Given the description of an element on the screen output the (x, y) to click on. 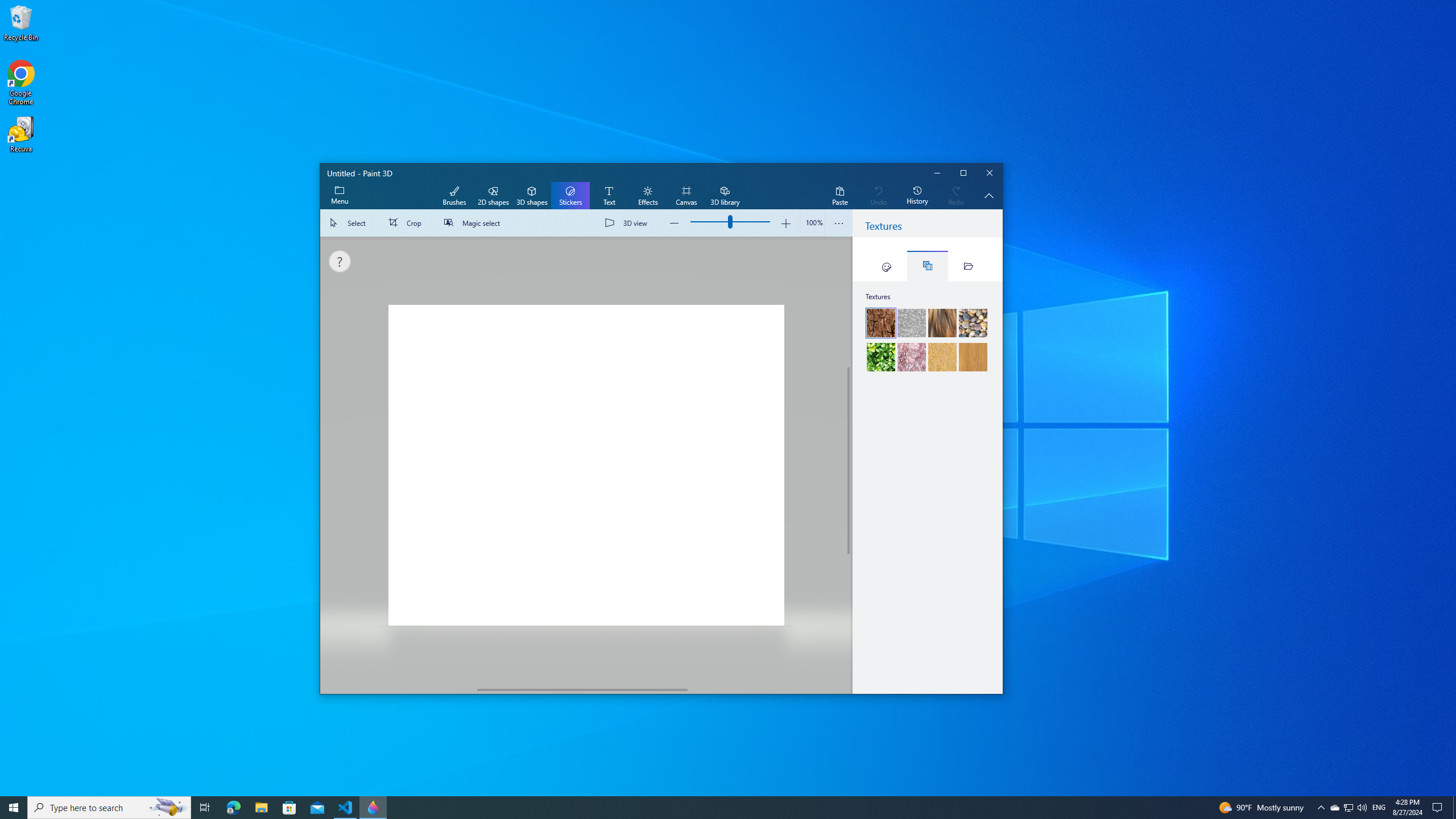
Zoom out (674, 222)
Horizontal Large Increase (765, 689)
Crop (407, 222)
Fur (942, 322)
Select (350, 222)
3D view (628, 222)
Textures (927, 265)
Magic select (474, 222)
Stickers (570, 195)
